Given the description of an element on the screen output the (x, y) to click on. 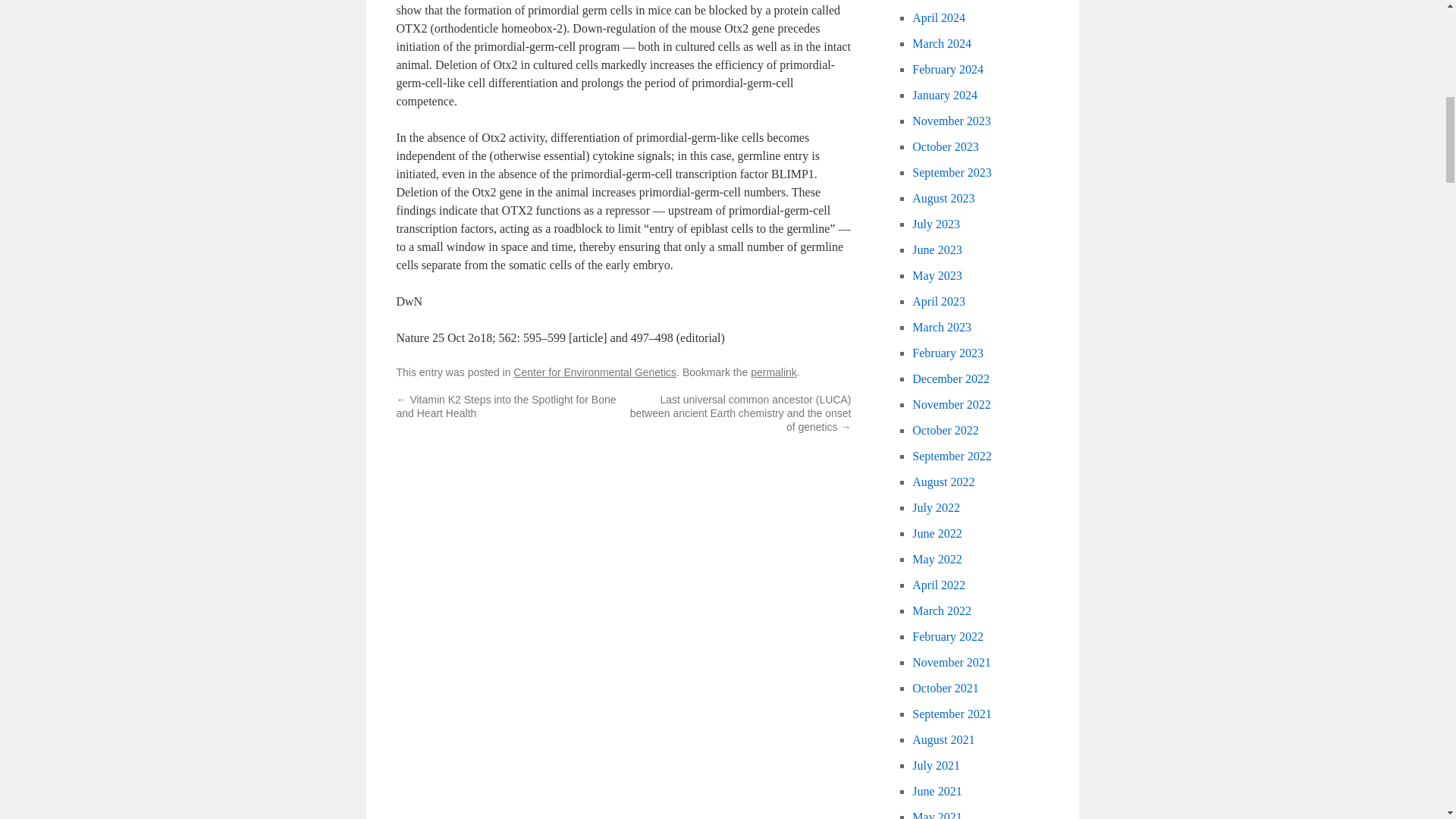
January 2024 (944, 94)
September 2023 (951, 172)
April 2024 (938, 17)
November 2022 (951, 404)
June 2023 (936, 249)
February 2023 (948, 352)
February 2024 (948, 69)
permalink (773, 372)
August 2023 (943, 197)
March 2024 (941, 42)
